Given the description of an element on the screen output the (x, y) to click on. 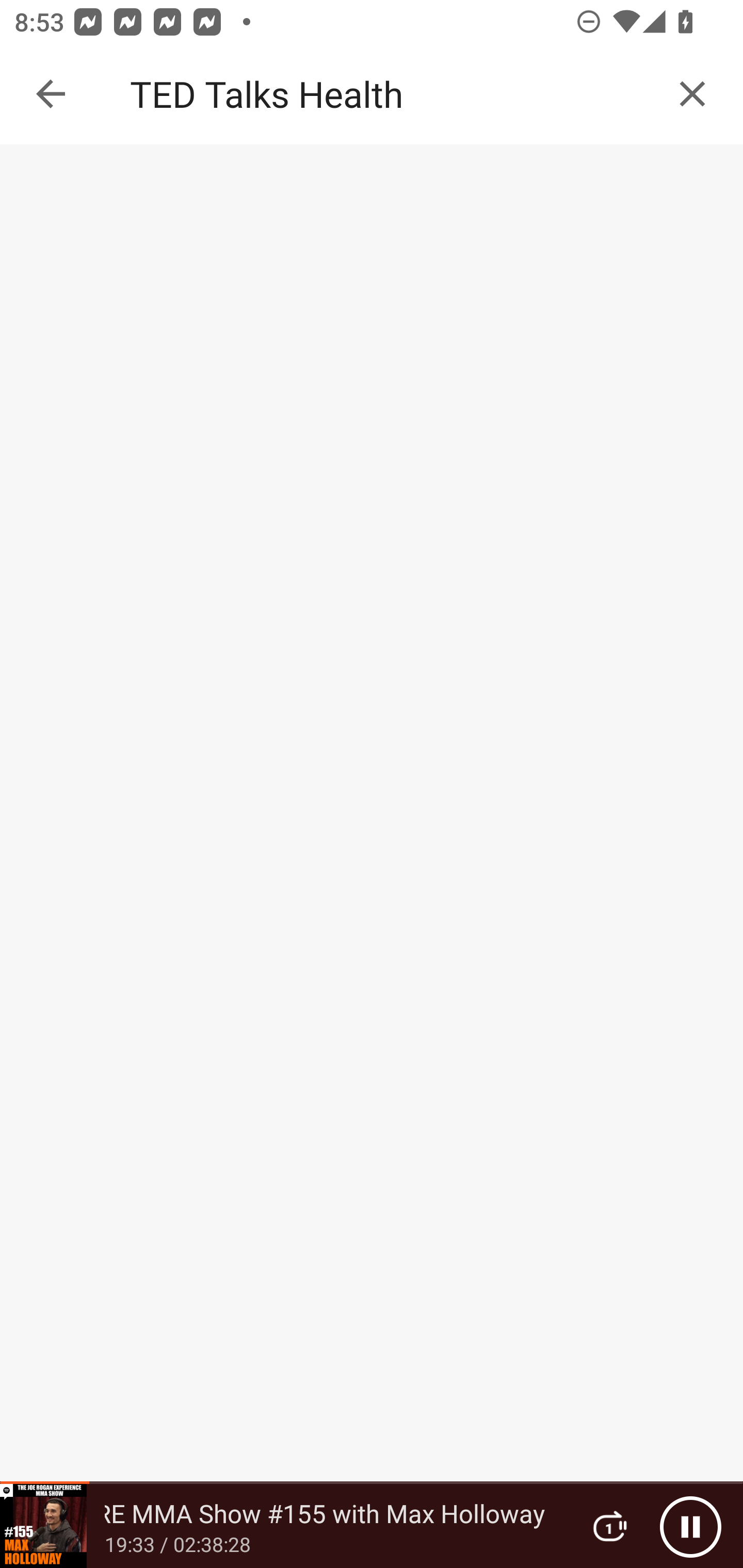
Collapse (50, 93)
Clear query (692, 93)
TED Talks Health (393, 94)
Pause (690, 1526)
